Given the description of an element on the screen output the (x, y) to click on. 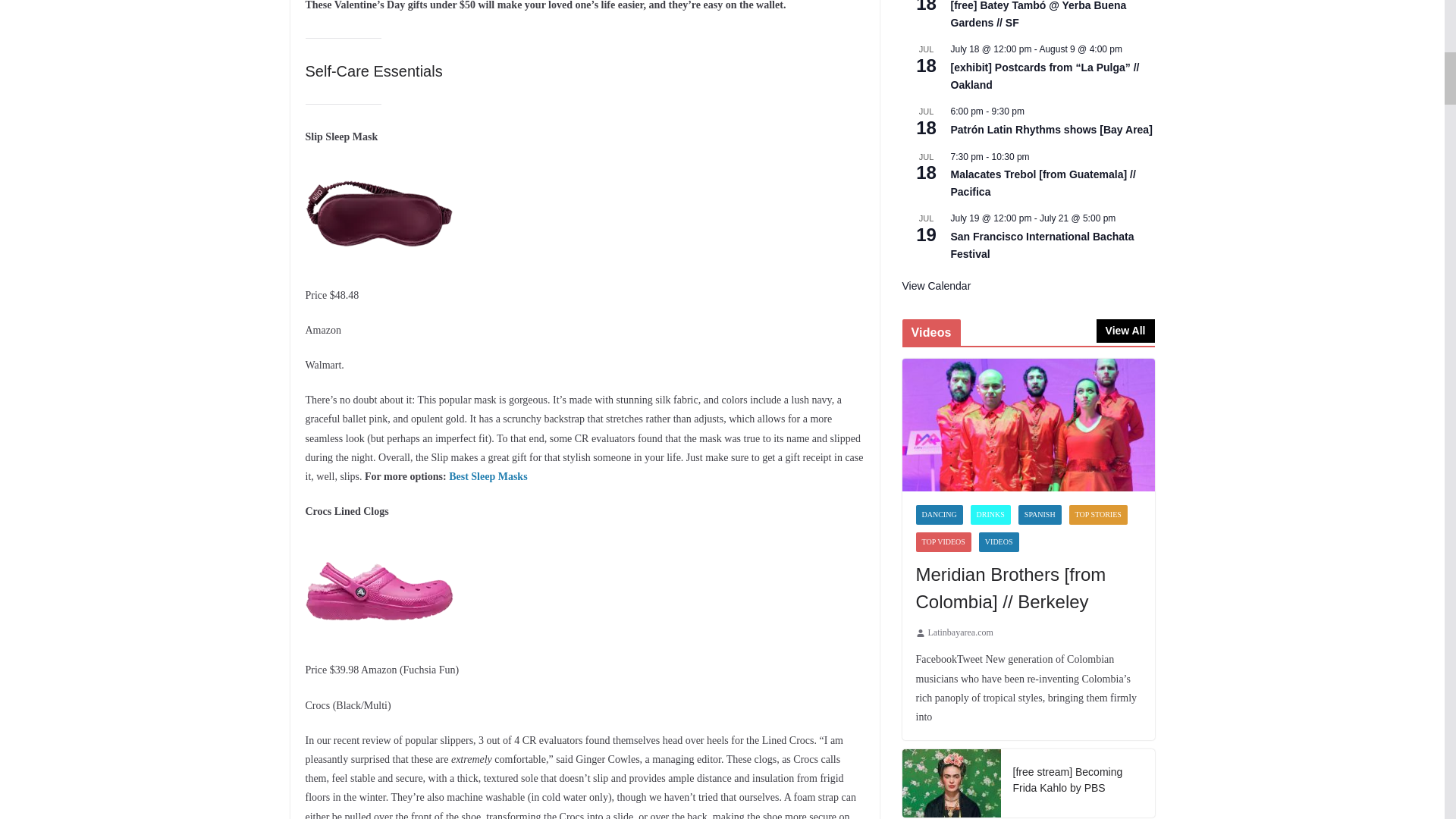
Best Sleep Masks (487, 476)
